Given the description of an element on the screen output the (x, y) to click on. 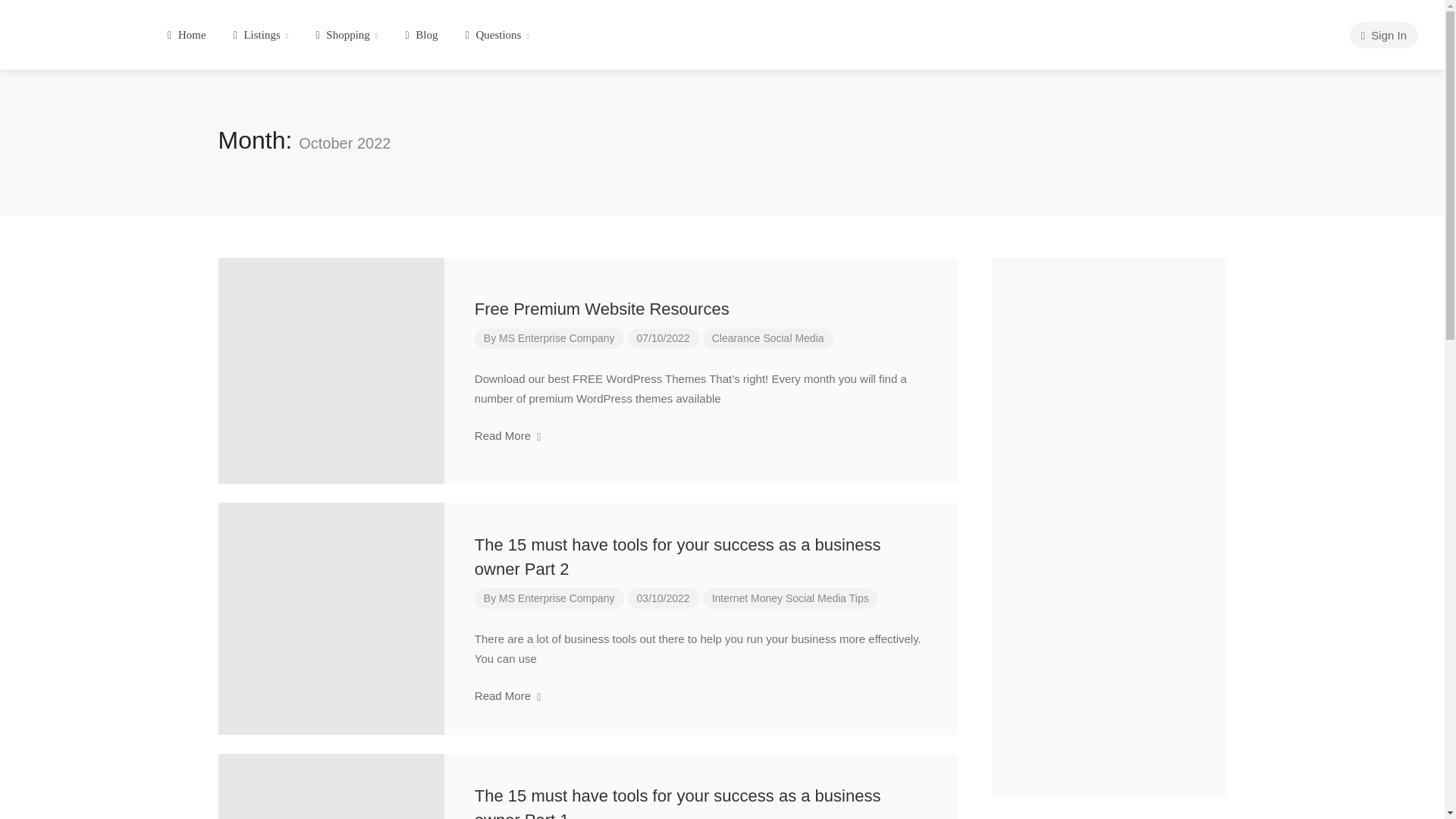
Questions (497, 35)
Home (185, 35)
Sign In (1383, 35)
Free Premium Website Resources (601, 308)
Shopping (346, 35)
dialchimp (77, 29)
Blog (420, 35)
Listings (260, 35)
